Given the description of an element on the screen output the (x, y) to click on. 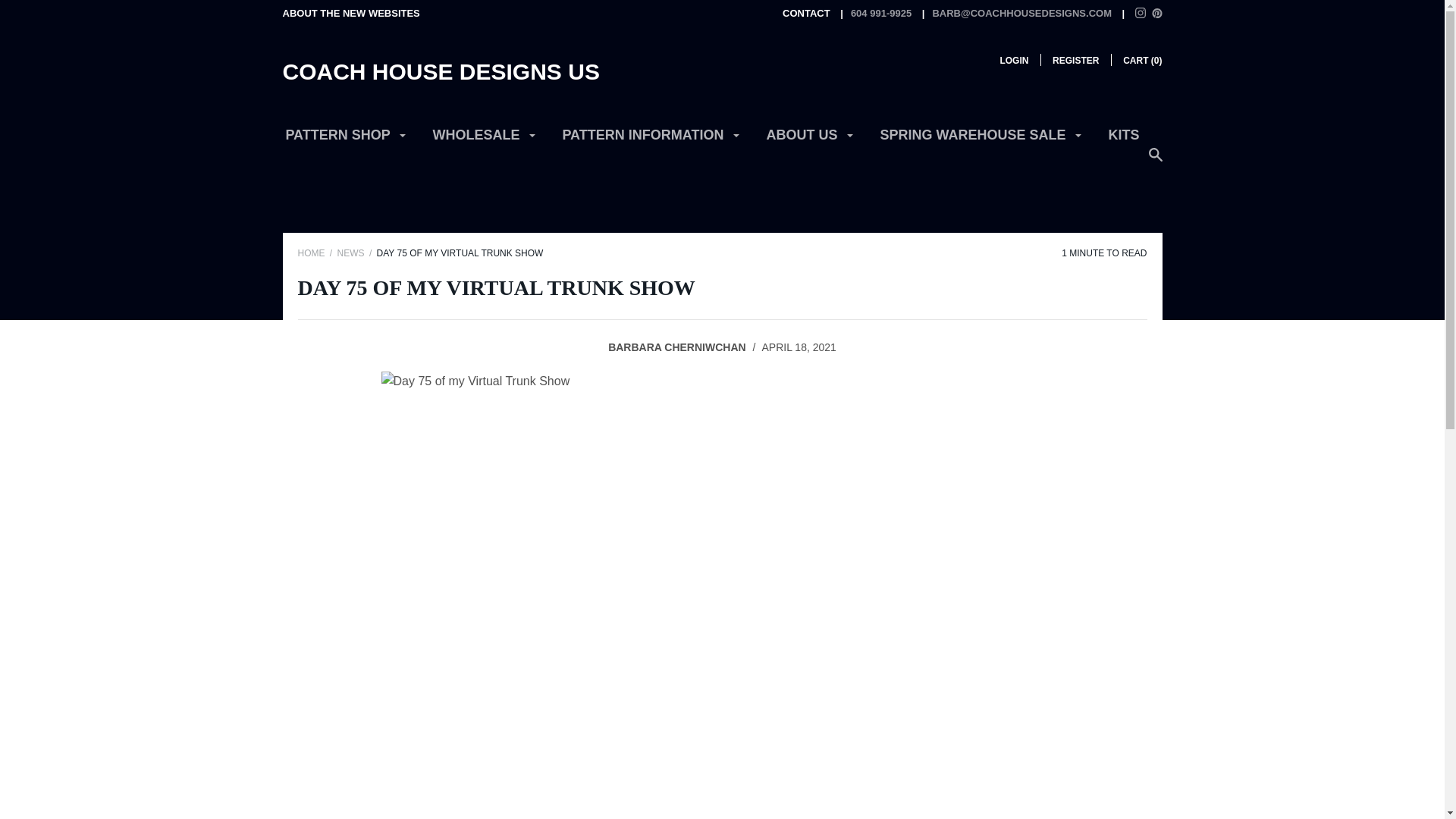
ABOUT THE NEW WEBSITES (350, 12)
Pinterest (1156, 14)
Instagram (1140, 14)
PATTERN SHOP (345, 140)
COACH HOUSE DESIGNS US (440, 71)
LOGIN (1012, 60)
REGISTER (1075, 60)
Instagram (1140, 12)
Search (1154, 162)
Pinterest (1156, 12)
